Given the description of an element on the screen output the (x, y) to click on. 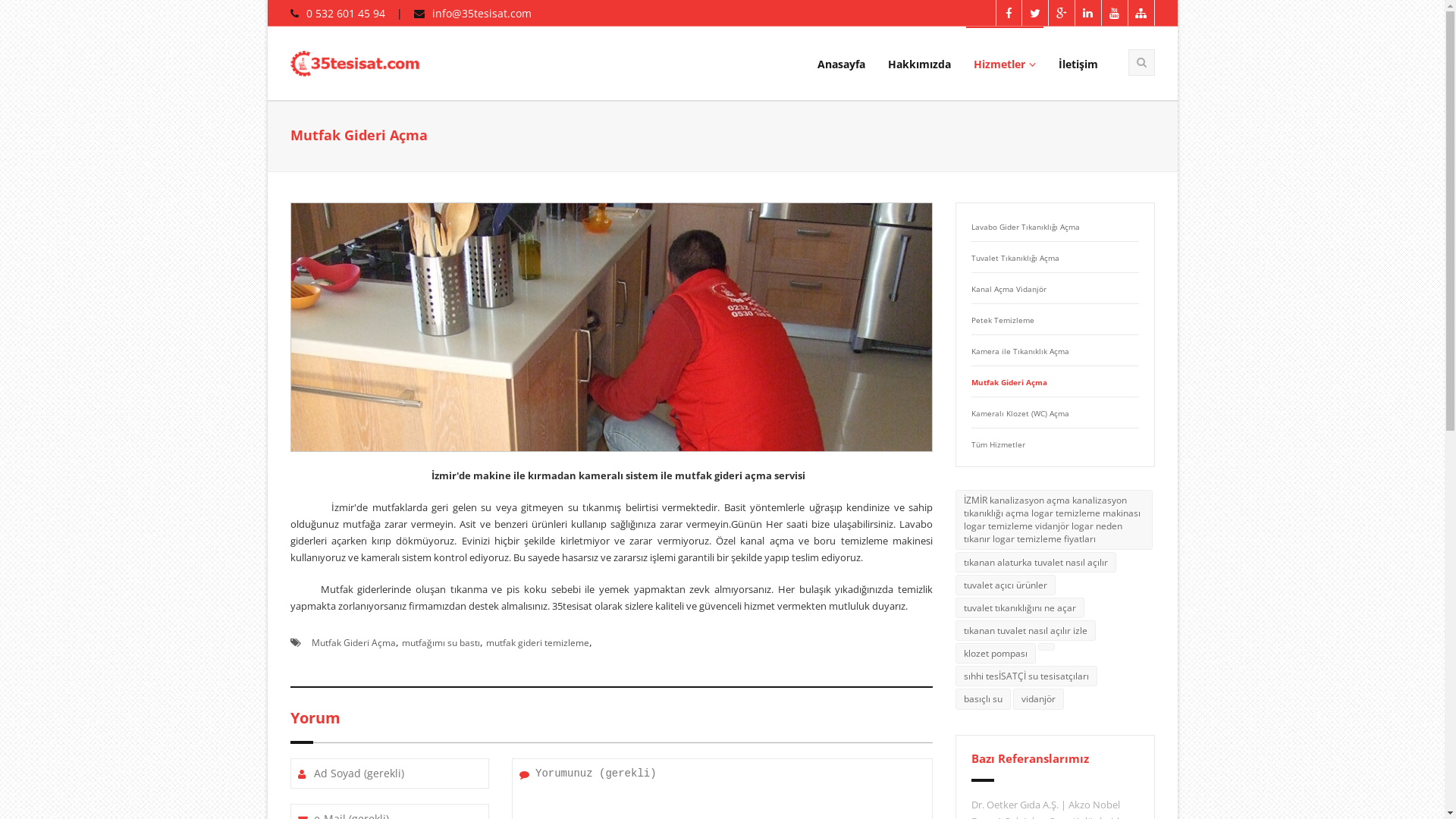
mutfak gideri temizleme Element type: text (536, 642)
Anasayfa Element type: text (840, 63)
Google Plus Element type: hover (1061, 13)
Twitter Element type: hover (1035, 13)
Linkedin Element type: hover (1088, 13)
Petek Temizleme Element type: text (1002, 319)
Sitemap Element type: hover (1141, 13)
Hizmetler Element type: text (1004, 63)
Youtube Element type: hover (1114, 13)
facebook Element type: hover (1007, 13)
